Given the description of an element on the screen output the (x, y) to click on. 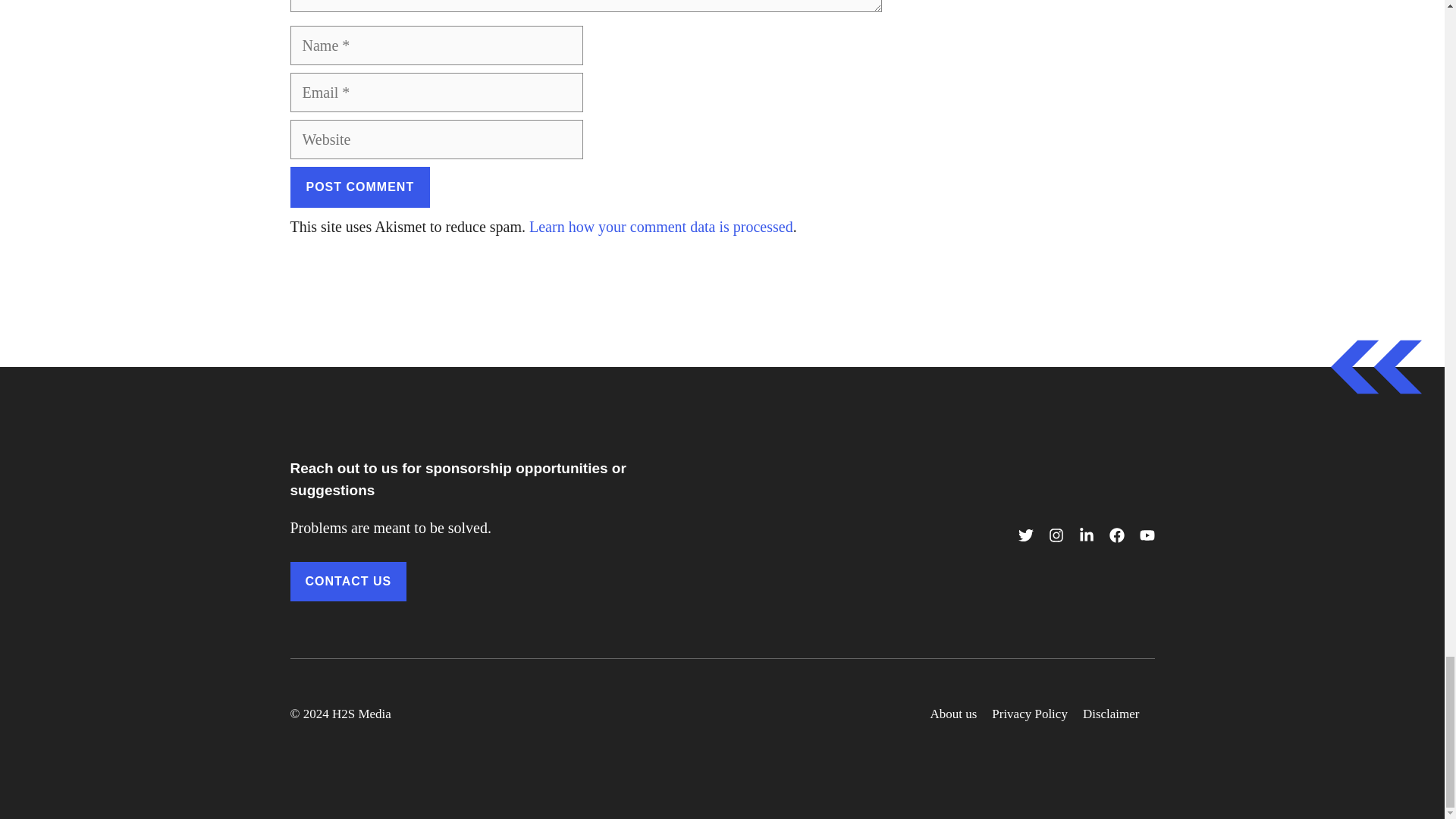
Post Comment (359, 187)
